Given the description of an element on the screen output the (x, y) to click on. 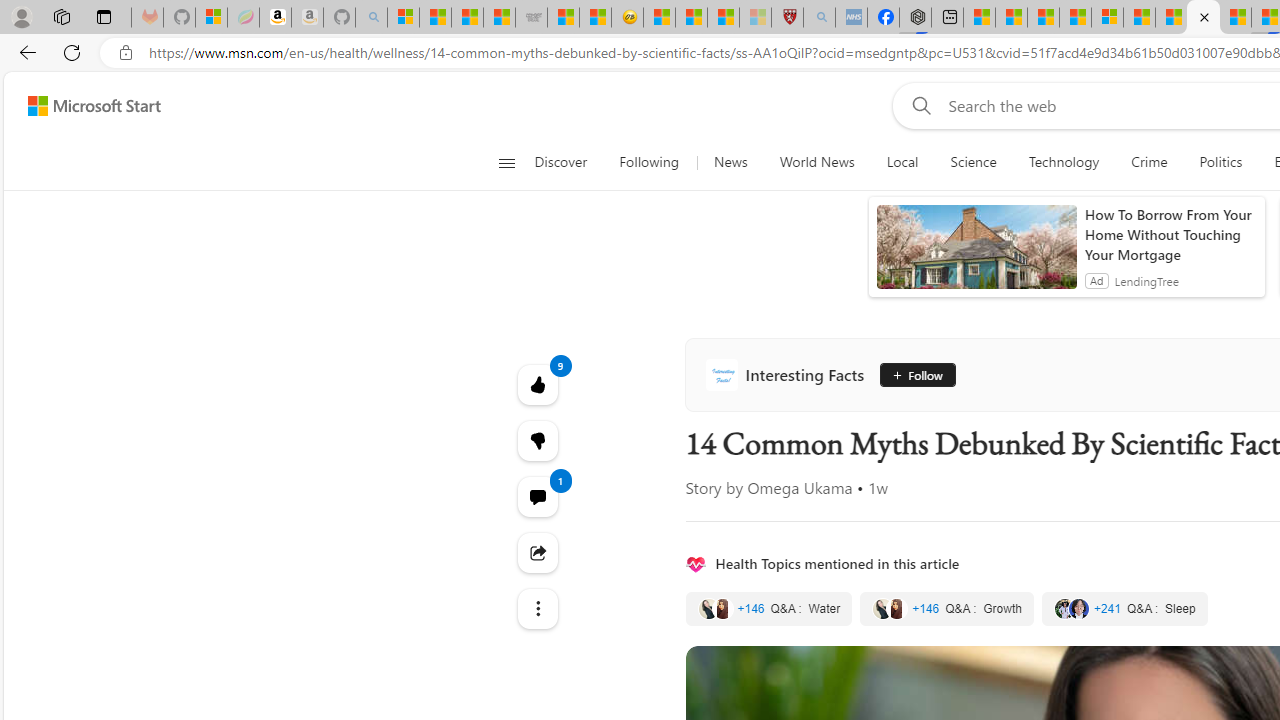
Open navigation menu (506, 162)
Interesting Facts (788, 374)
Class: quote-thumbnail (1078, 608)
12 Popular Science Lies that Must be Corrected - Sleeping (754, 17)
World News (816, 162)
anim-content (975, 255)
Sleep (1124, 608)
